Given the description of an element on the screen output the (x, y) to click on. 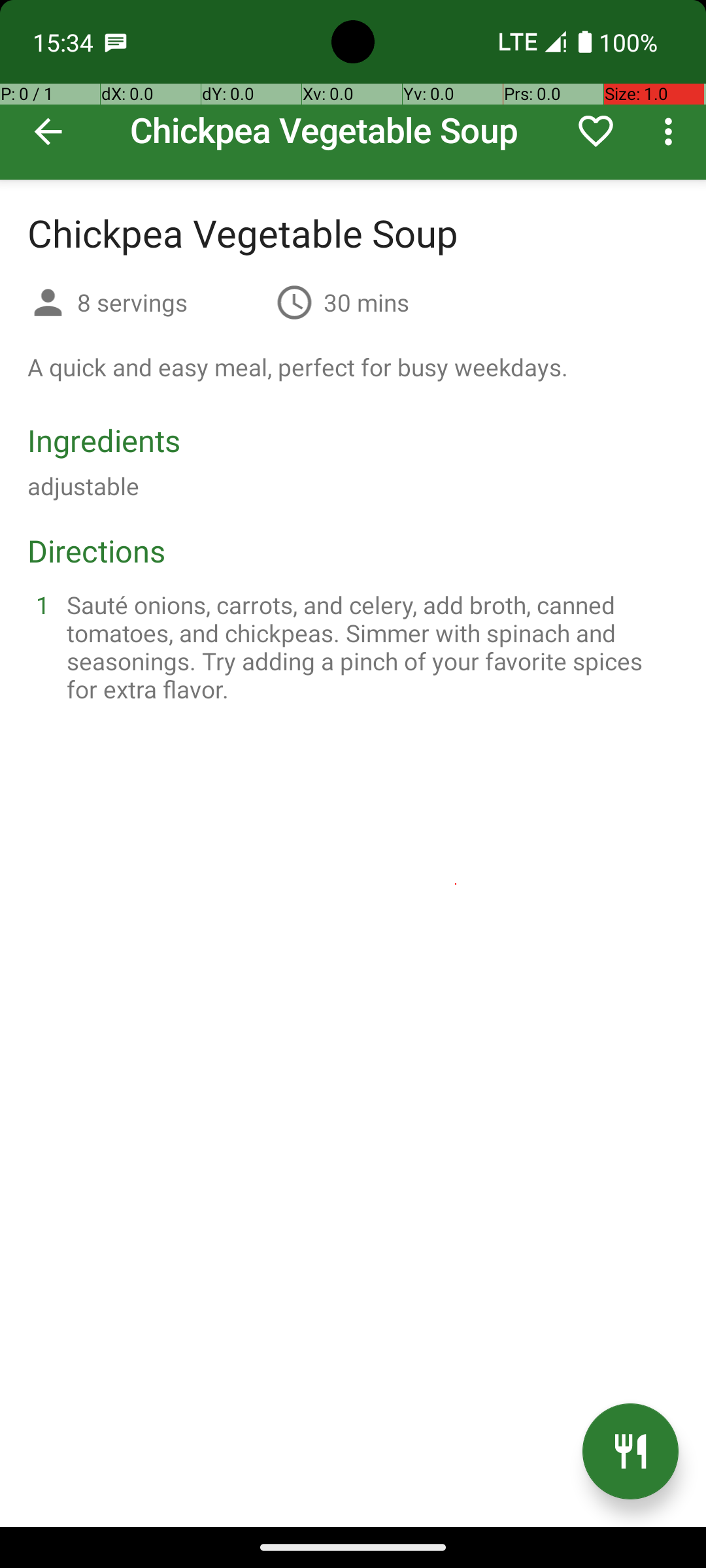
Sauté onions, carrots, and celery, add broth, canned tomatoes, and chickpeas. Simmer with spinach and seasonings. Try adding a pinch of your favorite spices for extra flavor. Element type: android.widget.TextView (368, 646)
